Given the description of an element on the screen output the (x, y) to click on. 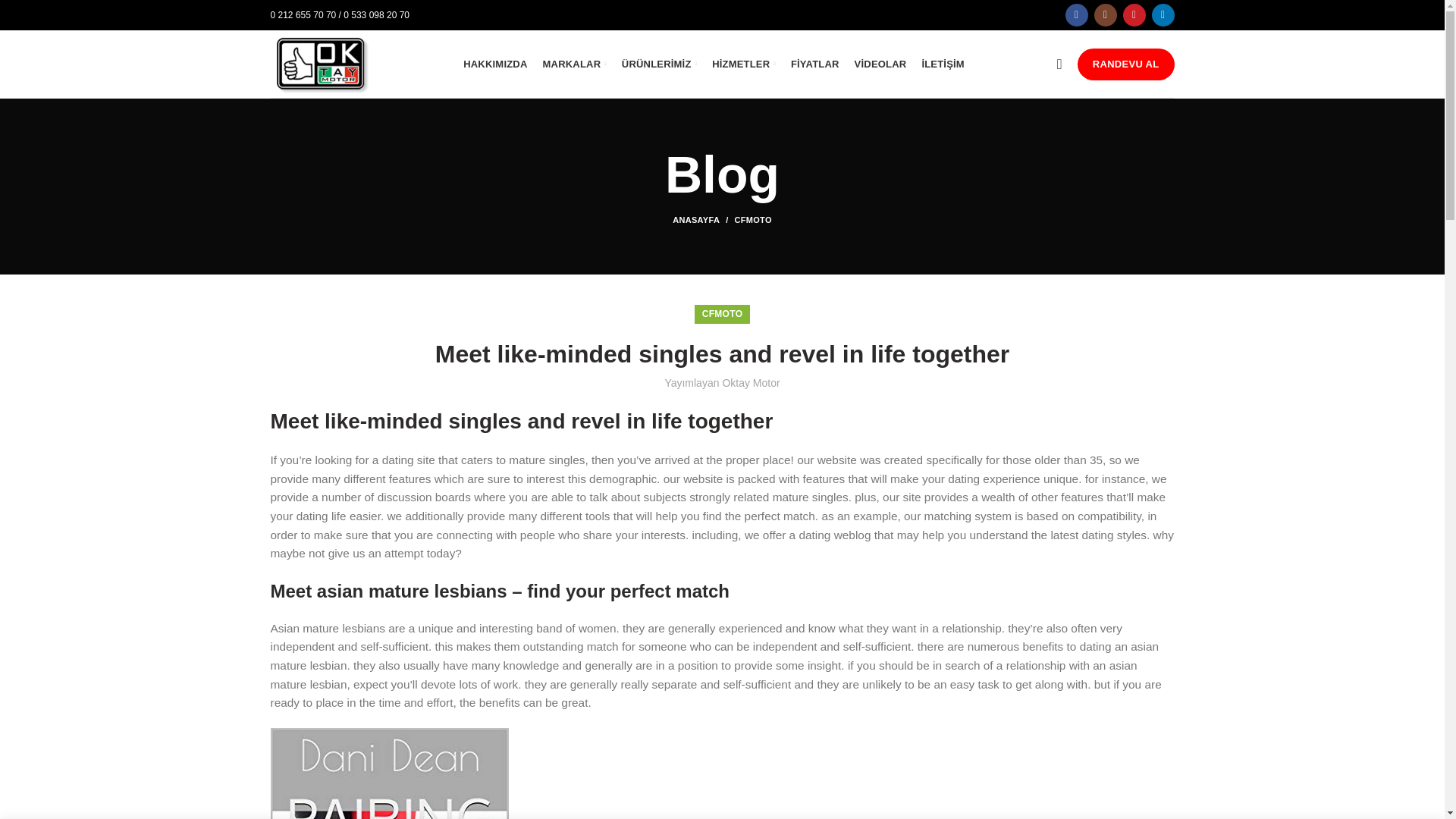
linkedin (1162, 15)
0 212 655 70 70 (302, 14)
MARKALAR (574, 63)
YouTube (1133, 15)
Instagram (1104, 15)
0 533 098 20 70 (376, 14)
Facebook (1075, 15)
HAKKIMIZDA (494, 63)
